Given the description of an element on the screen output the (x, y) to click on. 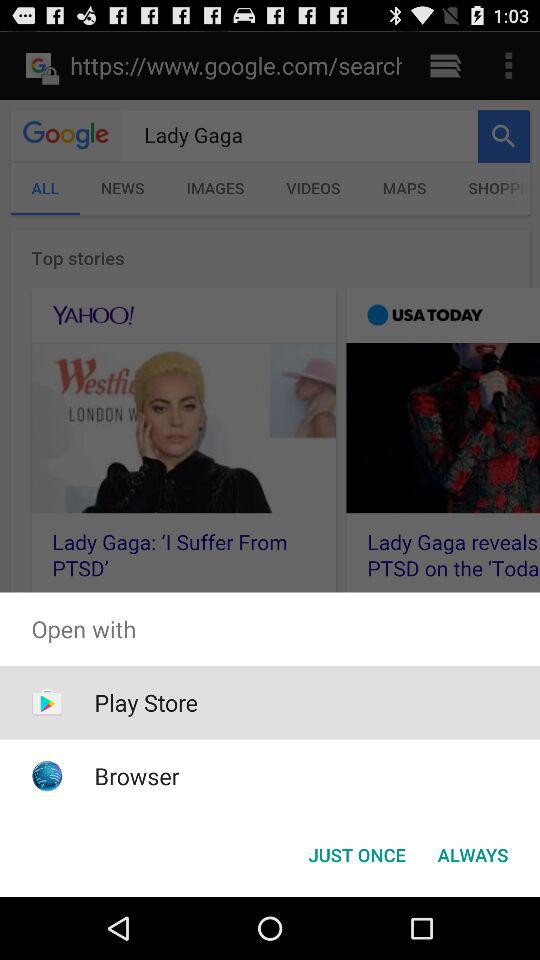
select the icon below open with (146, 702)
